Given the description of an element on the screen output the (x, y) to click on. 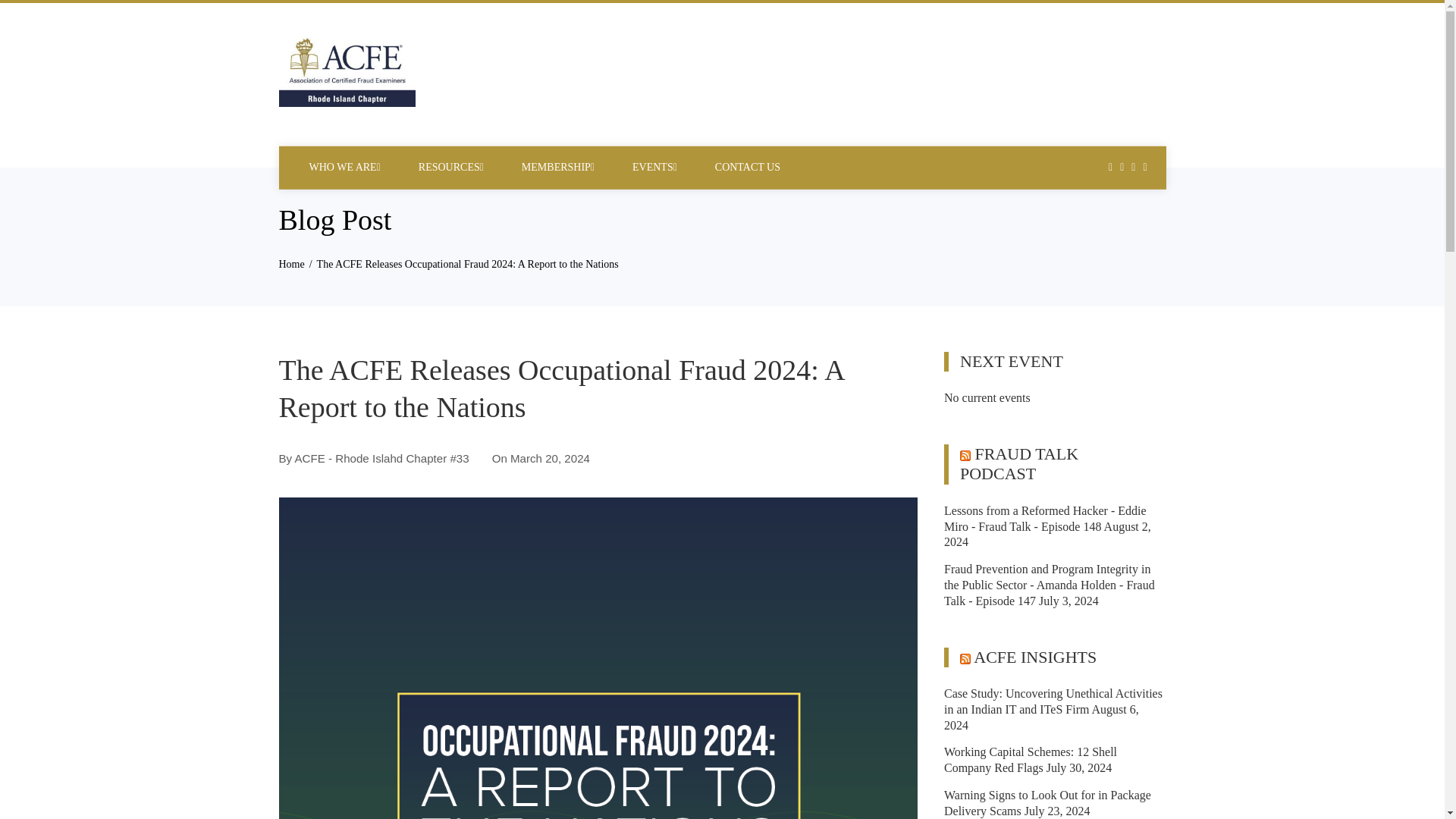
EVENTS (655, 166)
CONTACT US (747, 166)
MEMBERSHIP (558, 166)
RESOURCES (451, 166)
WHO WE ARE (345, 166)
